Given the description of an element on the screen output the (x, y) to click on. 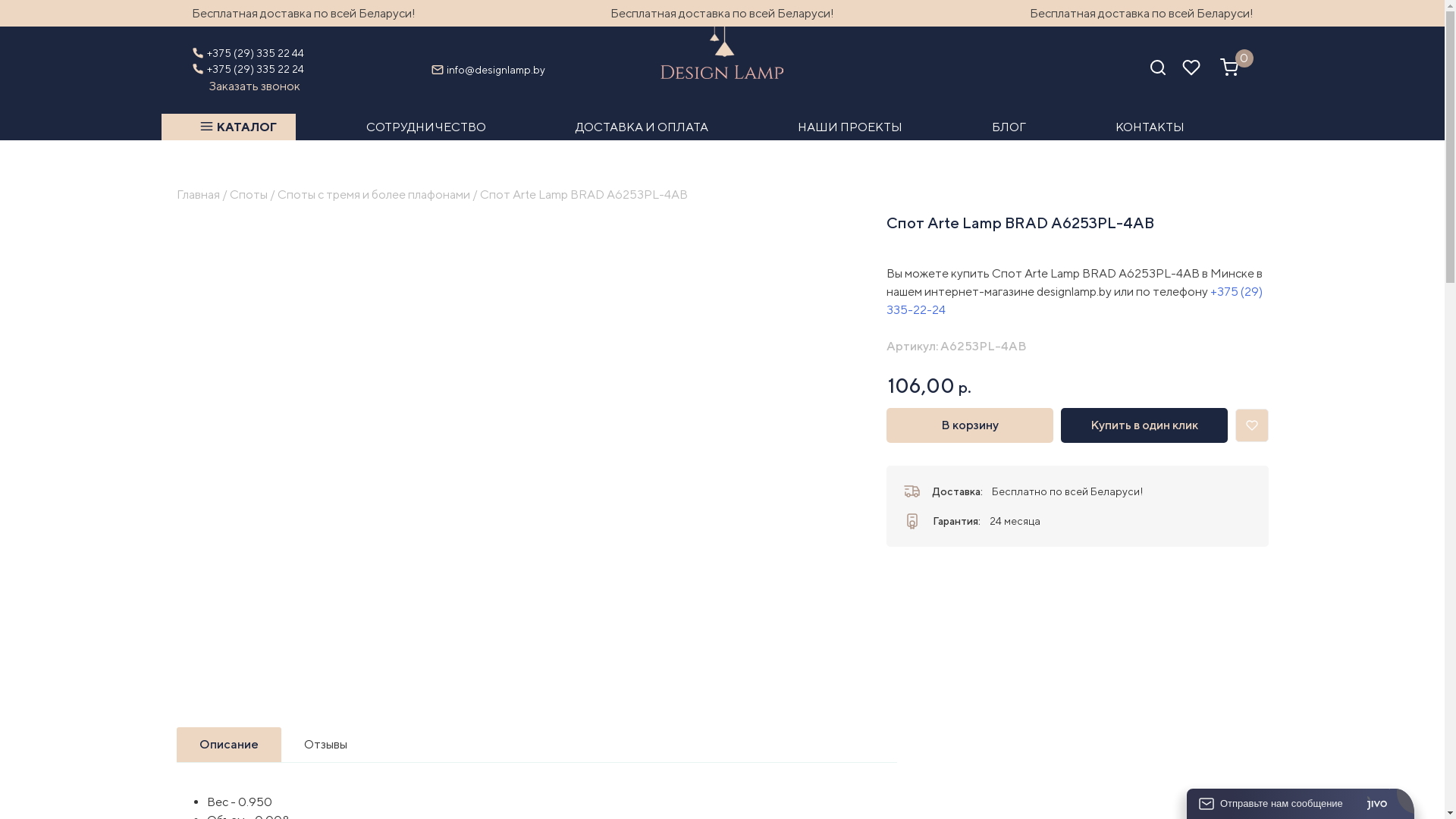
0 Element type: text (1228, 72)
+375 (29) 335 22 24 Element type: text (254, 68)
+375 (29) 335-22-24 Element type: text (1073, 300)
+375 (29) 335 22 44 Element type: text (254, 53)
info@designlamp.by Element type: text (495, 70)
